Given the description of an element on the screen output the (x, y) to click on. 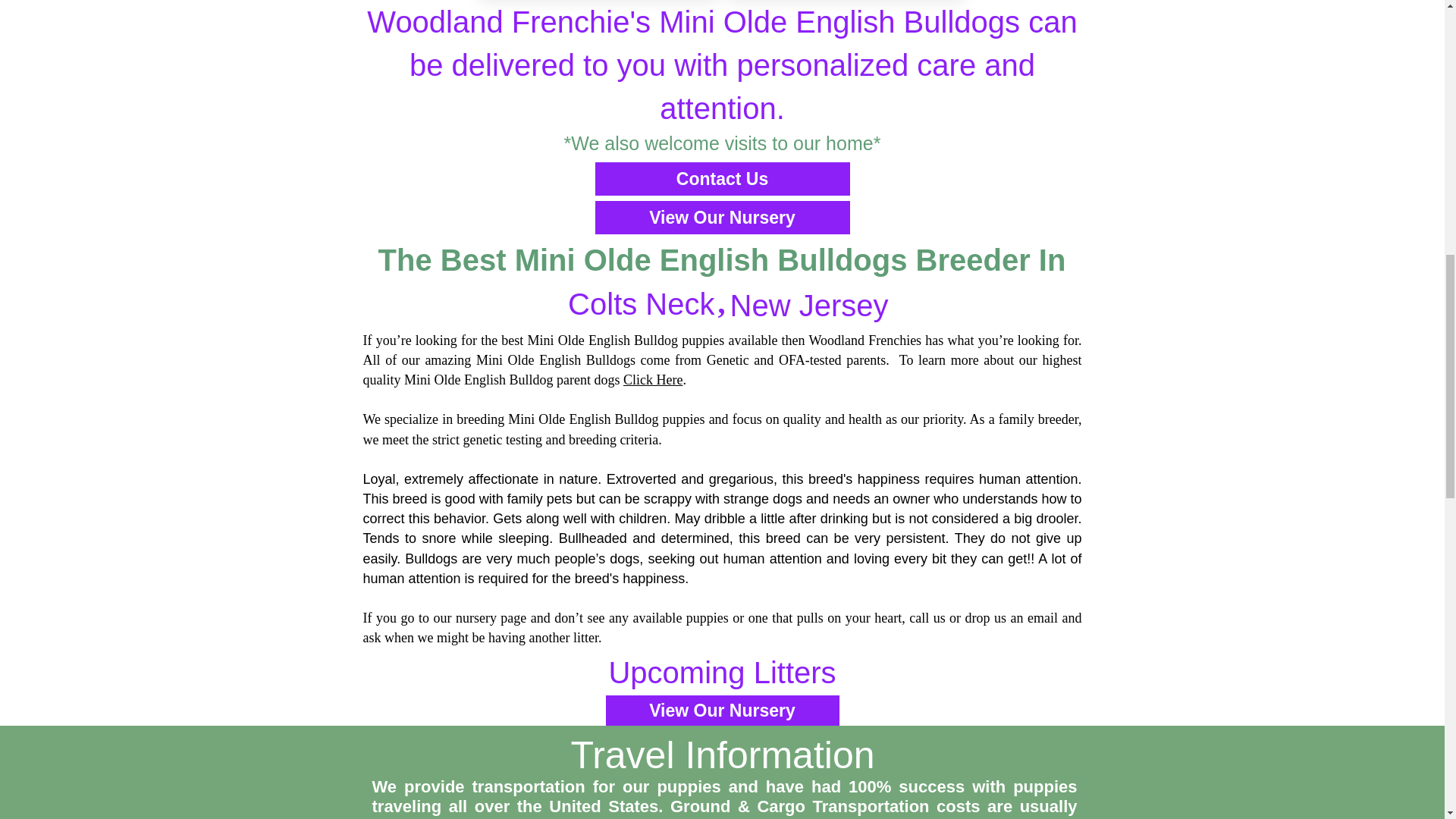
Contact Us (721, 178)
View Our Nursery (721, 217)
Click Here (652, 379)
View Our Nursery (721, 710)
